Given the description of an element on the screen output the (x, y) to click on. 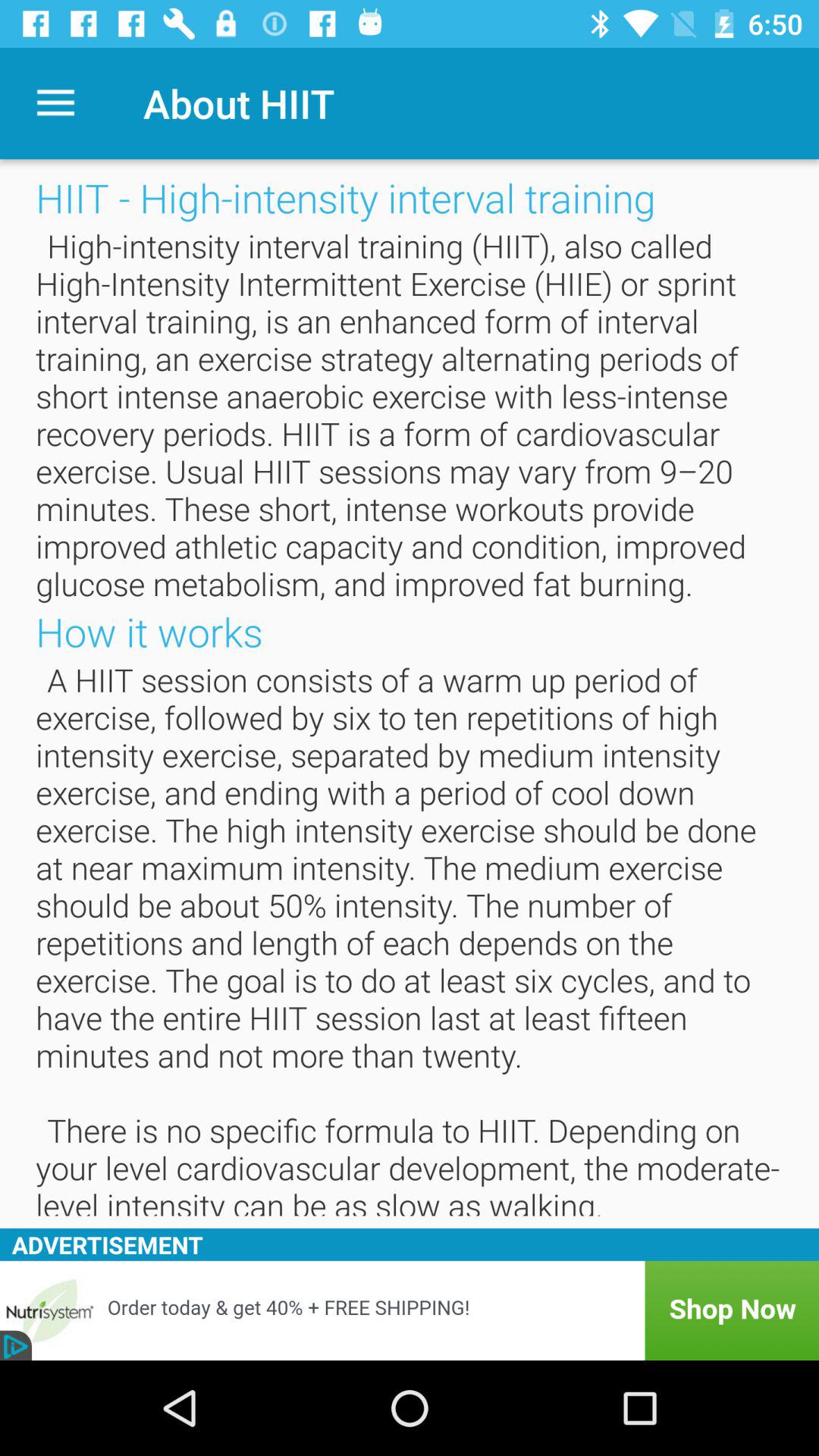
shop now (409, 1310)
